Given the description of an element on the screen output the (x, y) to click on. 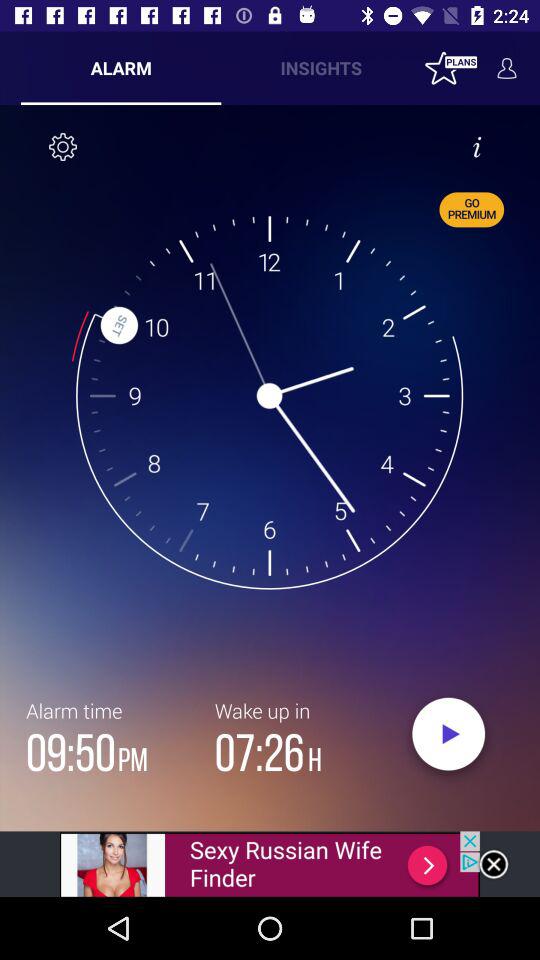
click advertisement (270, 864)
